Given the description of an element on the screen output the (x, y) to click on. 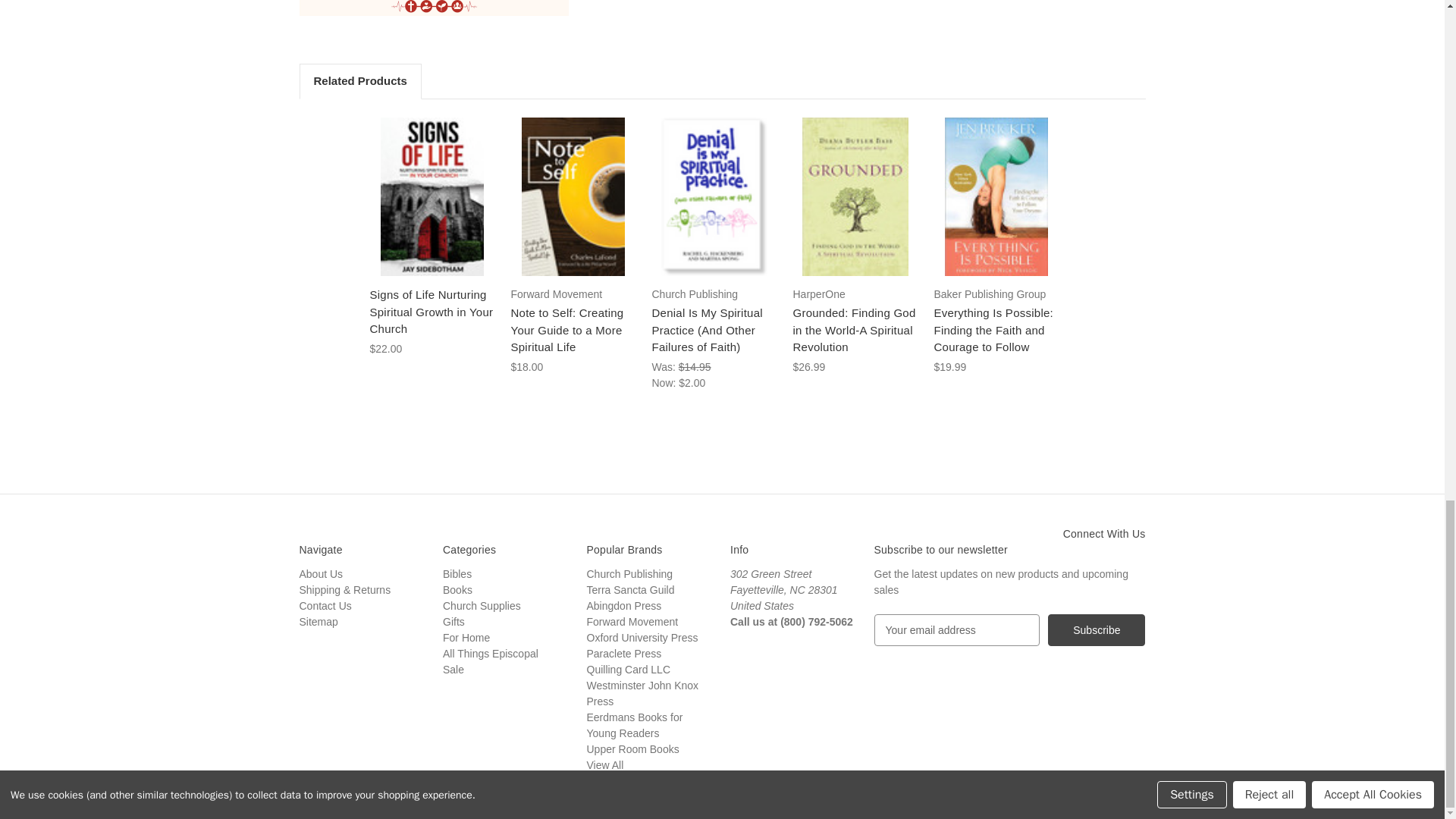
Subscribe (1096, 630)
vitalsignsoffaith-rule-of-life-card.jpg (432, 7)
